Given the description of an element on the screen output the (x, y) to click on. 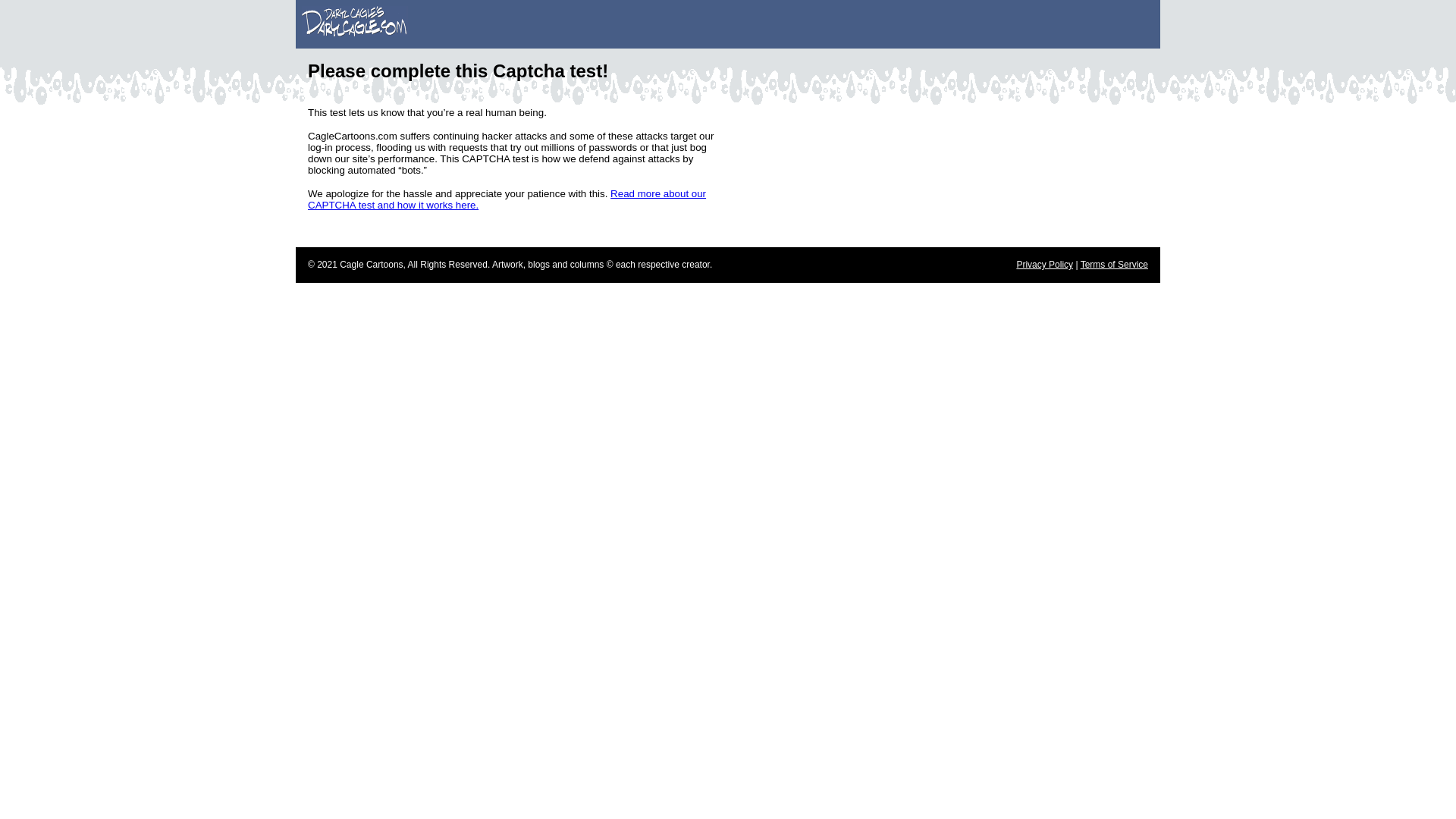
Read more about our CAPTCHA test and how it works here. (506, 199)
Terms of Service (1114, 264)
Privacy Policy (1044, 264)
